Given the description of an element on the screen output the (x, y) to click on. 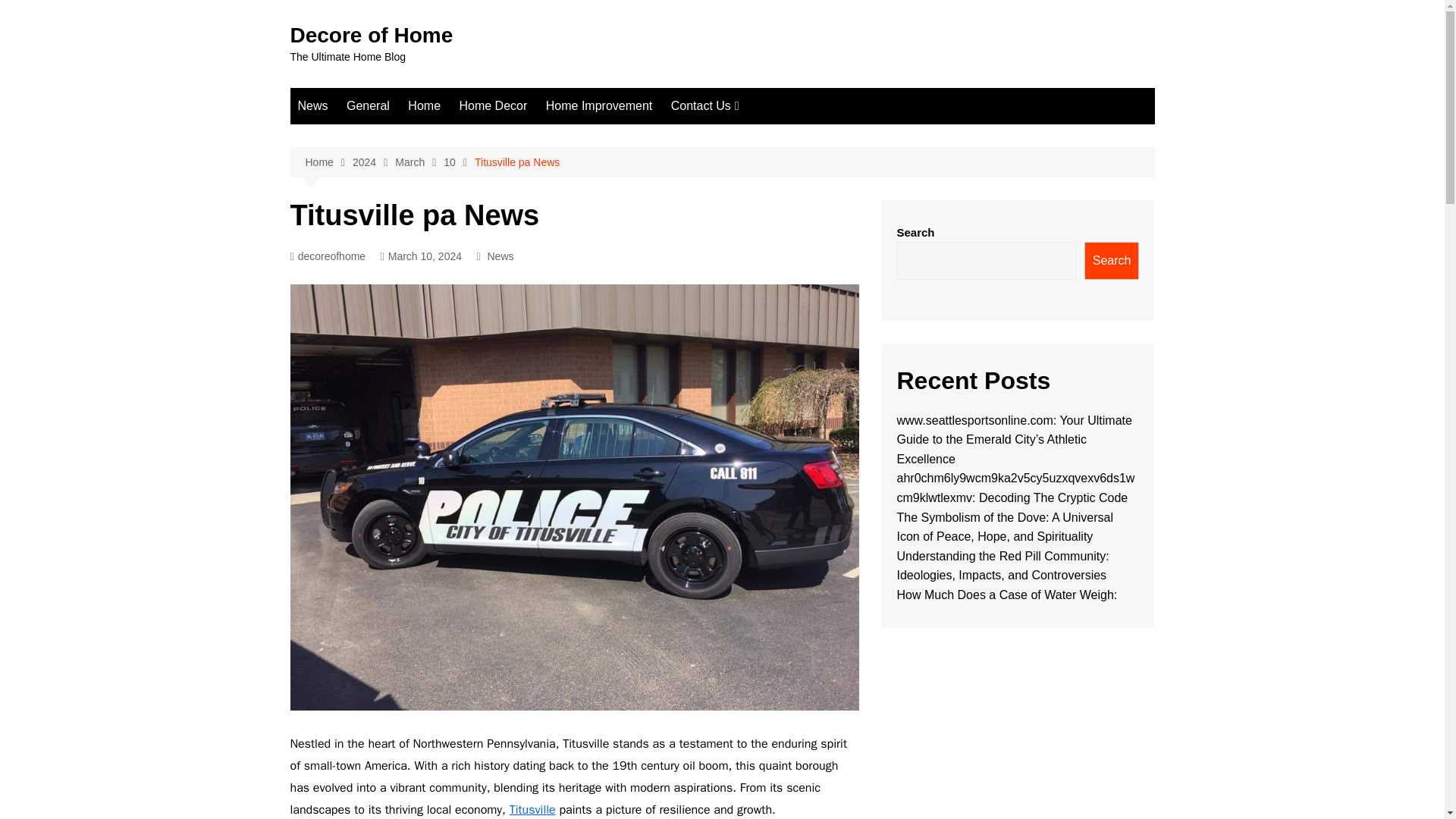
General (368, 105)
Home Decor (492, 105)
Contact Us (704, 105)
News (311, 105)
March 10, 2024 (420, 256)
Home Improvement (599, 105)
Write For Us (746, 161)
Decore of Home (370, 34)
Titusville (532, 809)
Home (328, 162)
